Given the description of an element on the screen output the (x, y) to click on. 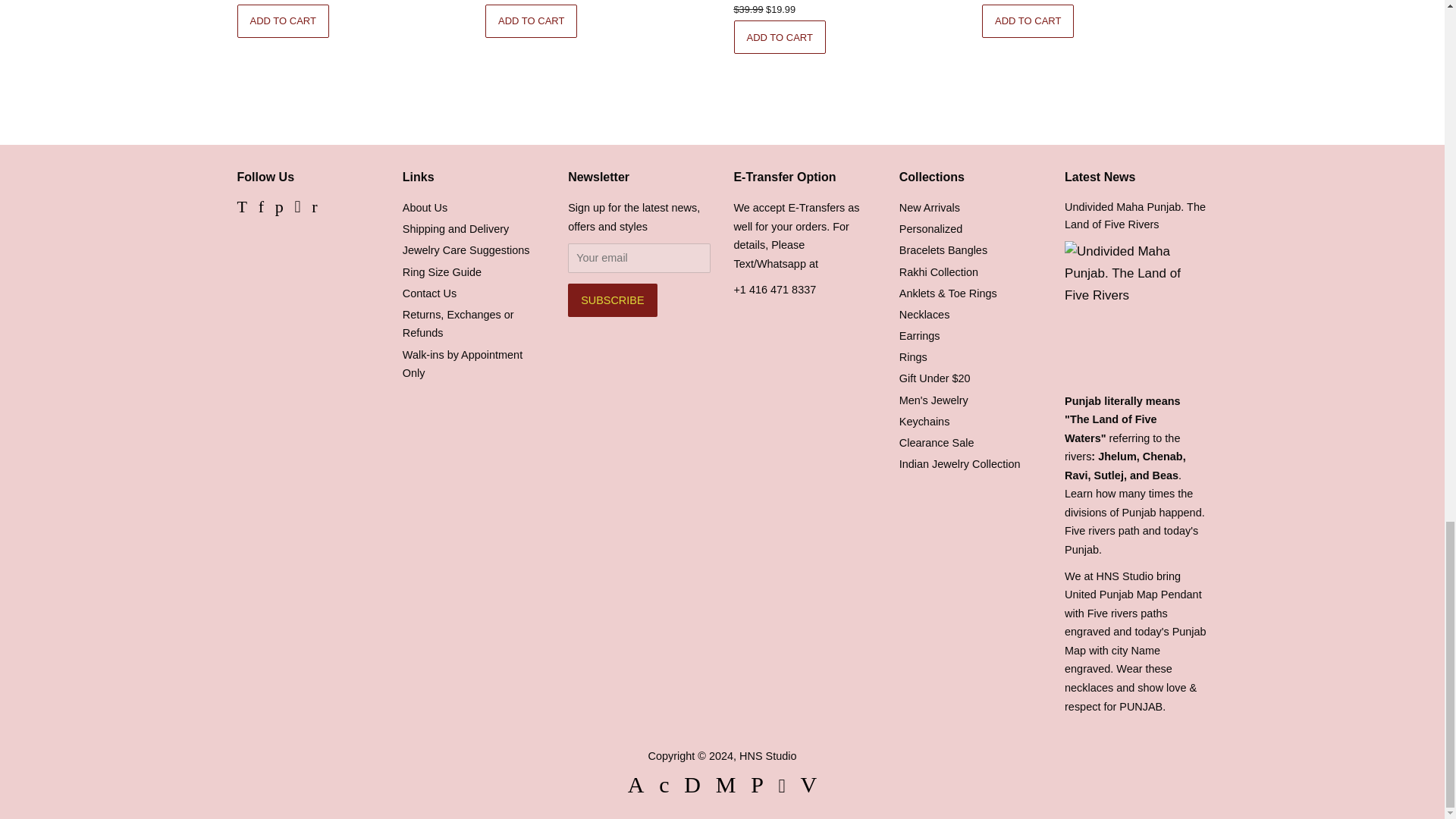
Add to cart (530, 20)
Add to cart (779, 37)
Add to cart (1027, 20)
Subscribe (611, 299)
Add to cart (282, 20)
